Given the description of an element on the screen output the (x, y) to click on. 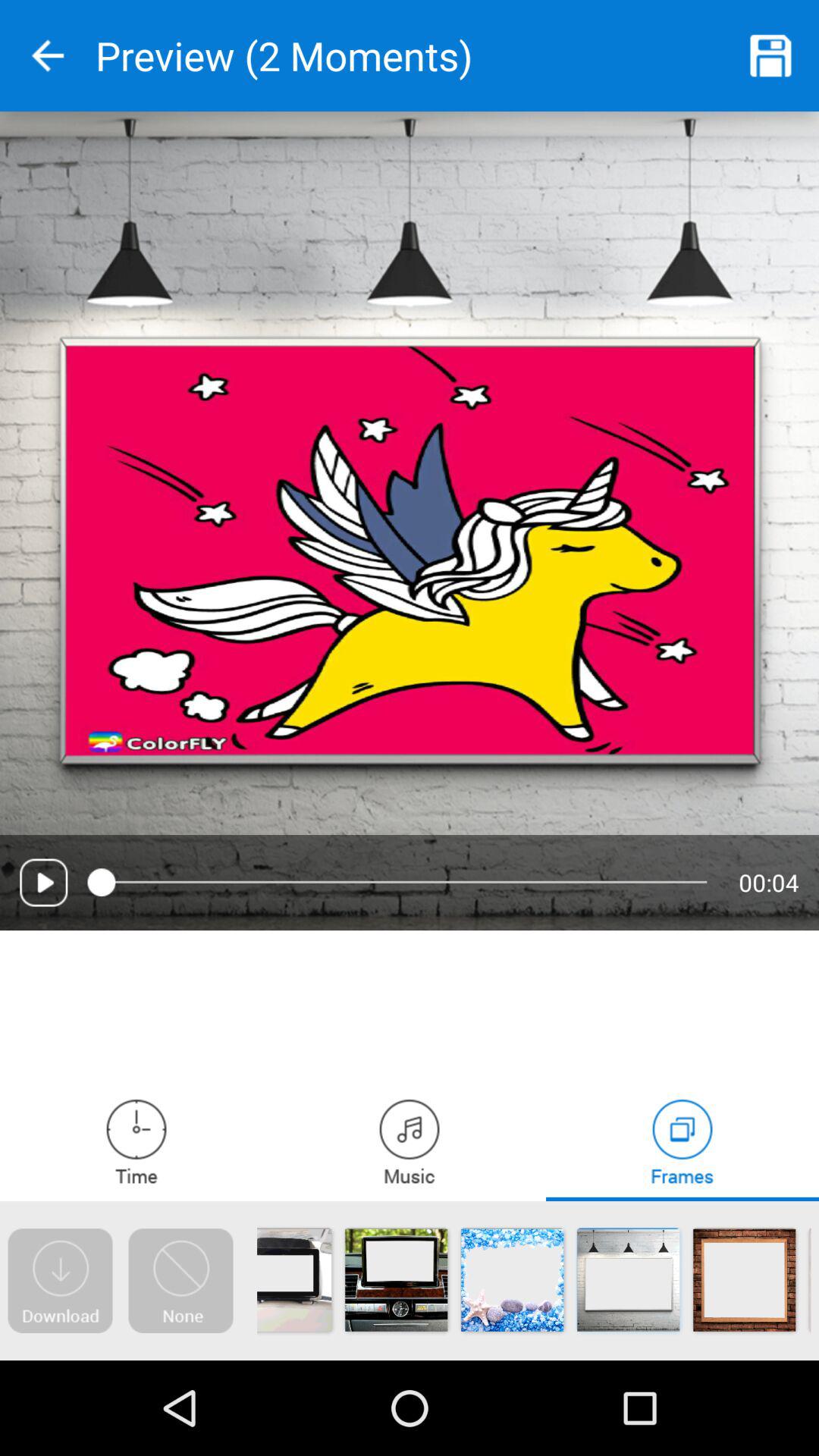
clock and alarm (136, 1141)
